Given the description of an element on the screen output the (x, y) to click on. 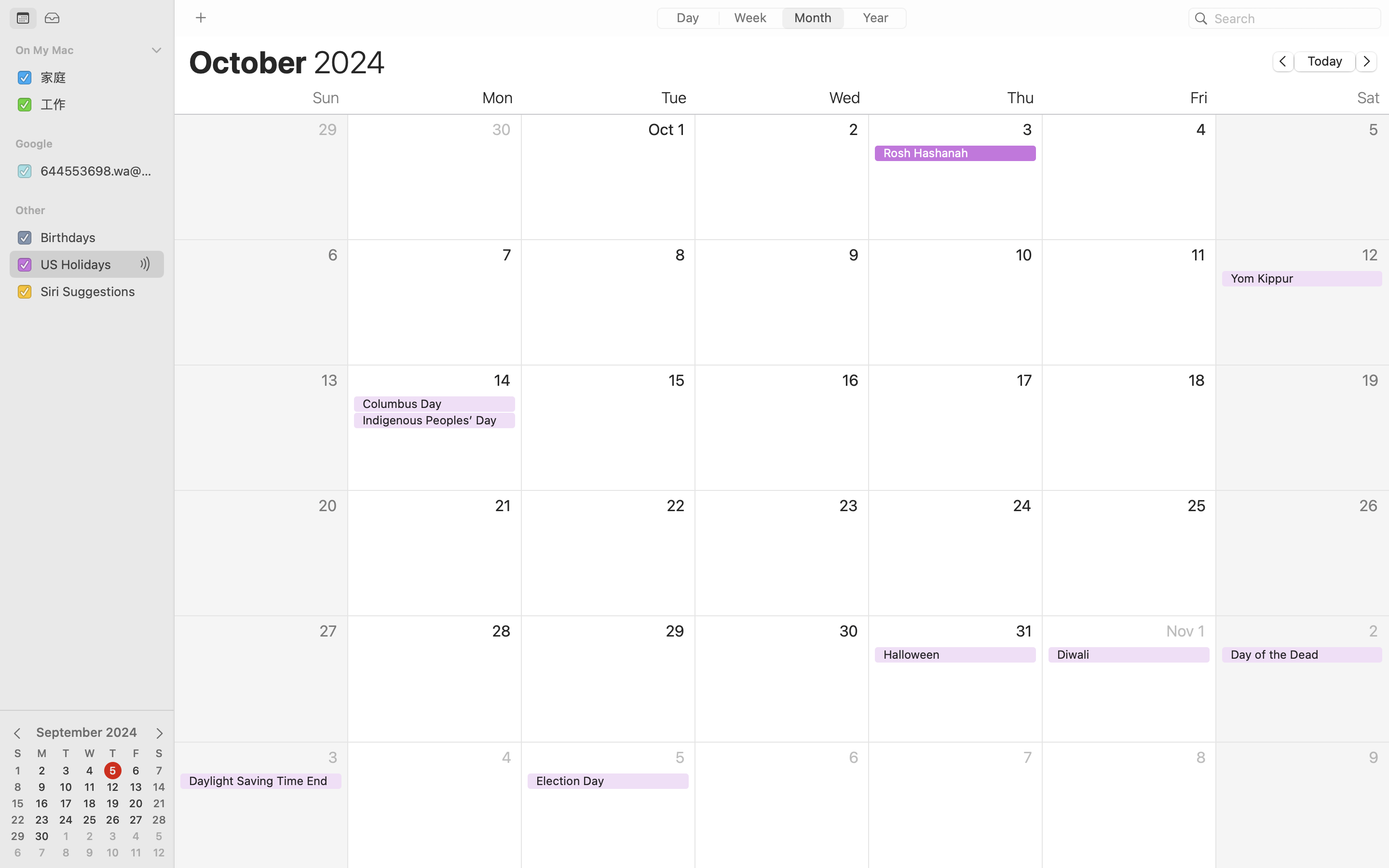
11 Element type: AXStaticText (89, 787)
25 Element type: AXStaticText (89, 820)
28 Element type: AXStaticText (158, 820)
家庭 Element type: AXTextField (98, 76)
